Given the description of an element on the screen output the (x, y) to click on. 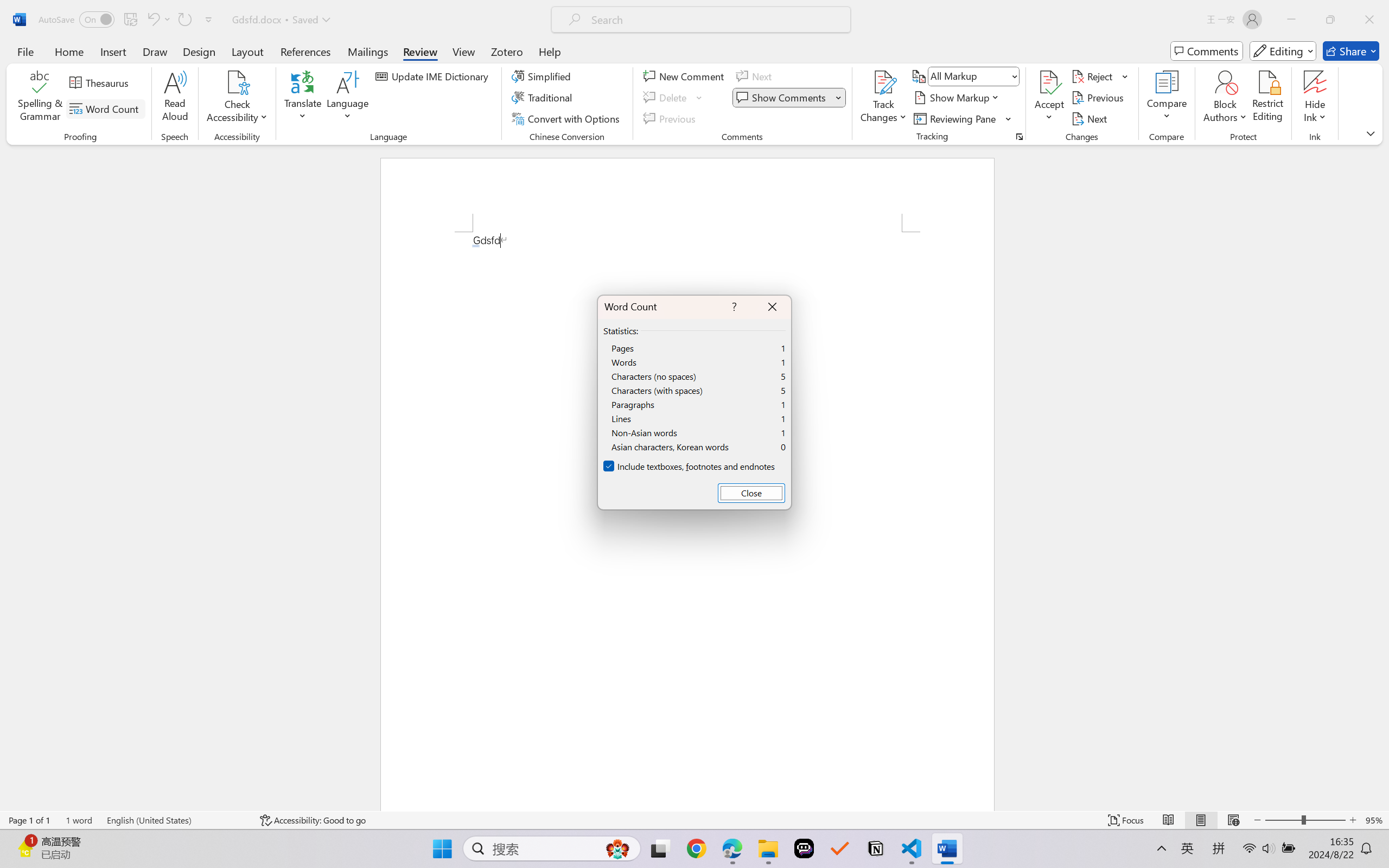
Compare (1166, 97)
Can't Repeat (184, 19)
Reviewing Pane (955, 118)
Poe (804, 848)
Delete (673, 97)
Accept and Move to Next (1049, 81)
